Given the description of an element on the screen output the (x, y) to click on. 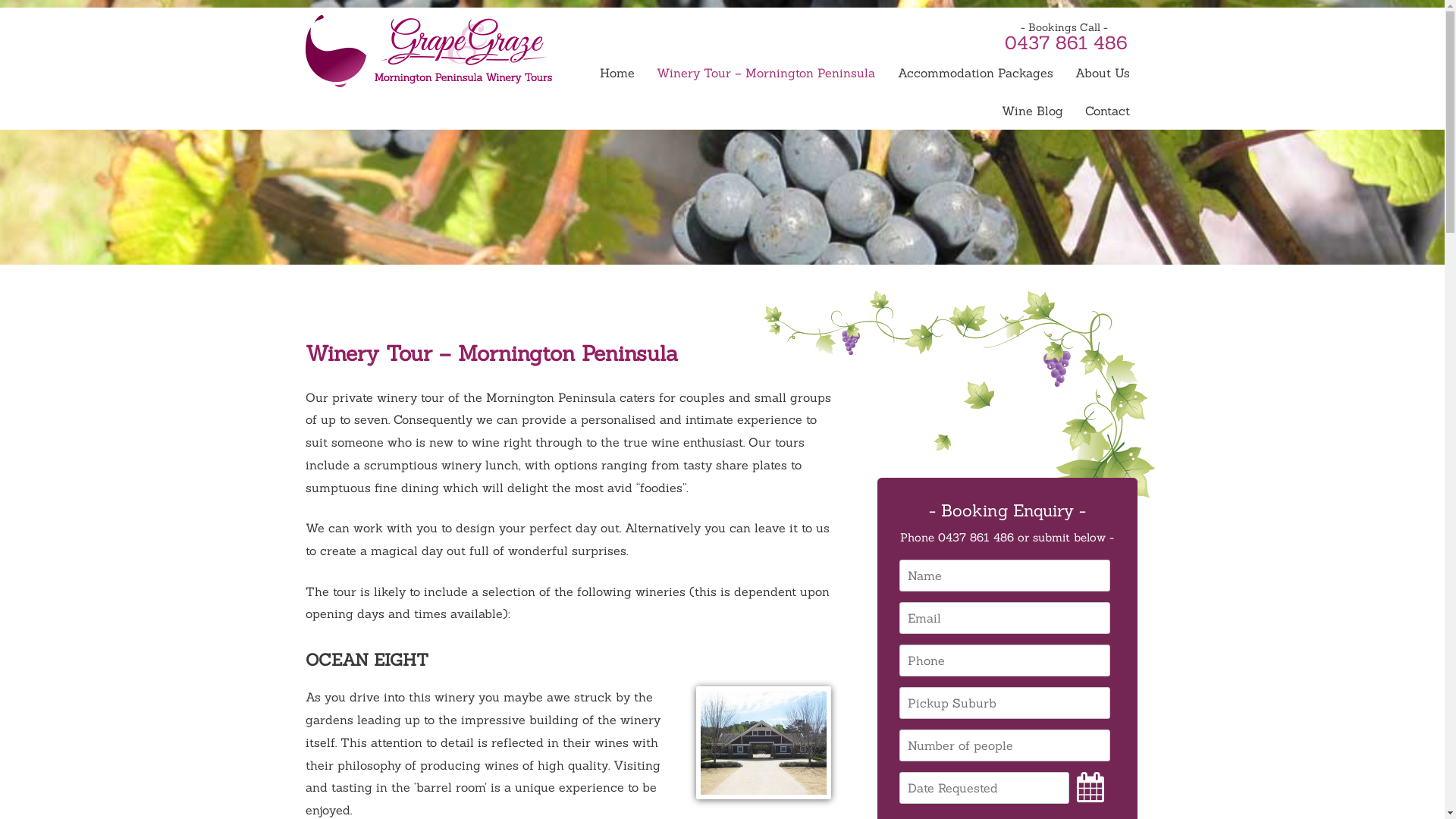
Home Element type: text (616, 72)
Contact Element type: text (1107, 110)
Wine Blog Element type: text (1031, 110)
Accommodation Packages Element type: text (975, 72)
Skip To Content Element type: text (611, 67)
About Us Element type: text (1102, 72)
